Given the description of an element on the screen output the (x, y) to click on. 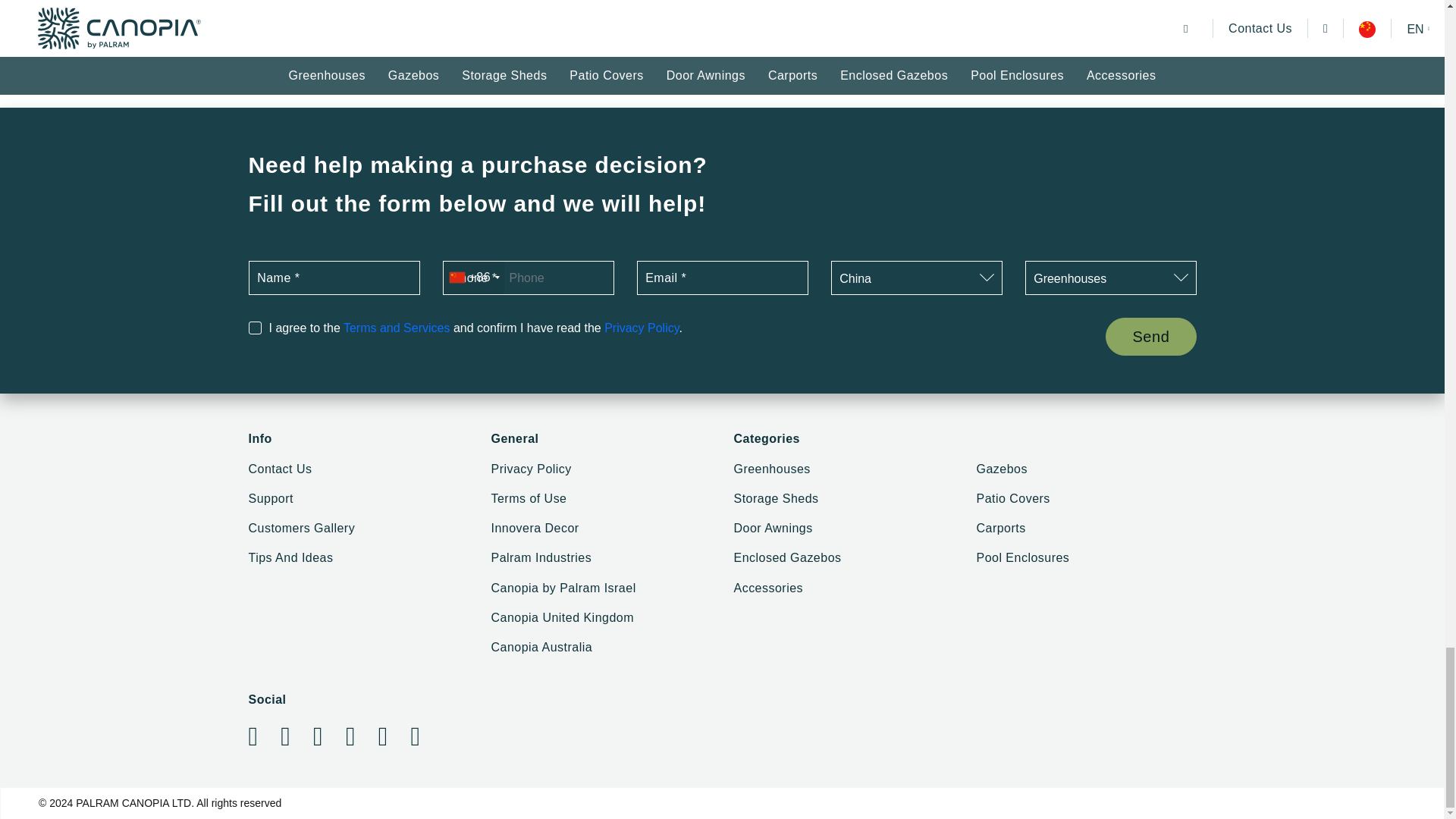
China (916, 278)
Greenhouses (1110, 278)
